Given the description of an element on the screen output the (x, y) to click on. 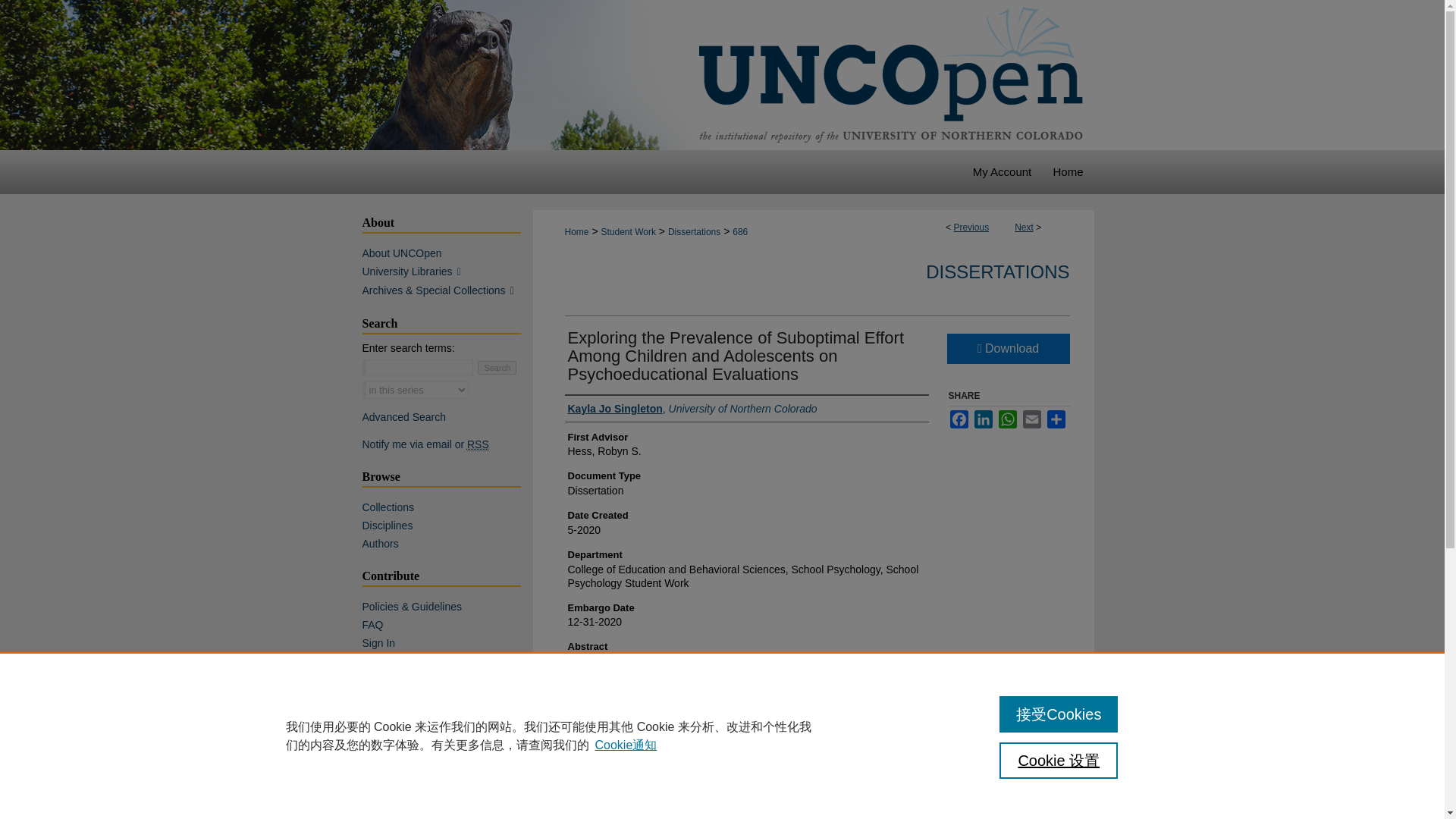
Collections (447, 507)
Home (1067, 171)
FAQ (447, 624)
Email or RSS Notifications (447, 444)
Previous (970, 226)
LinkedIn (982, 419)
About UNCOpen (447, 253)
Download (1007, 348)
Facebook (958, 419)
Next (1023, 226)
686 (740, 231)
My Account (1001, 171)
Dissertations (694, 231)
Browse by Author (447, 543)
Authors (447, 543)
